Given the description of an element on the screen output the (x, y) to click on. 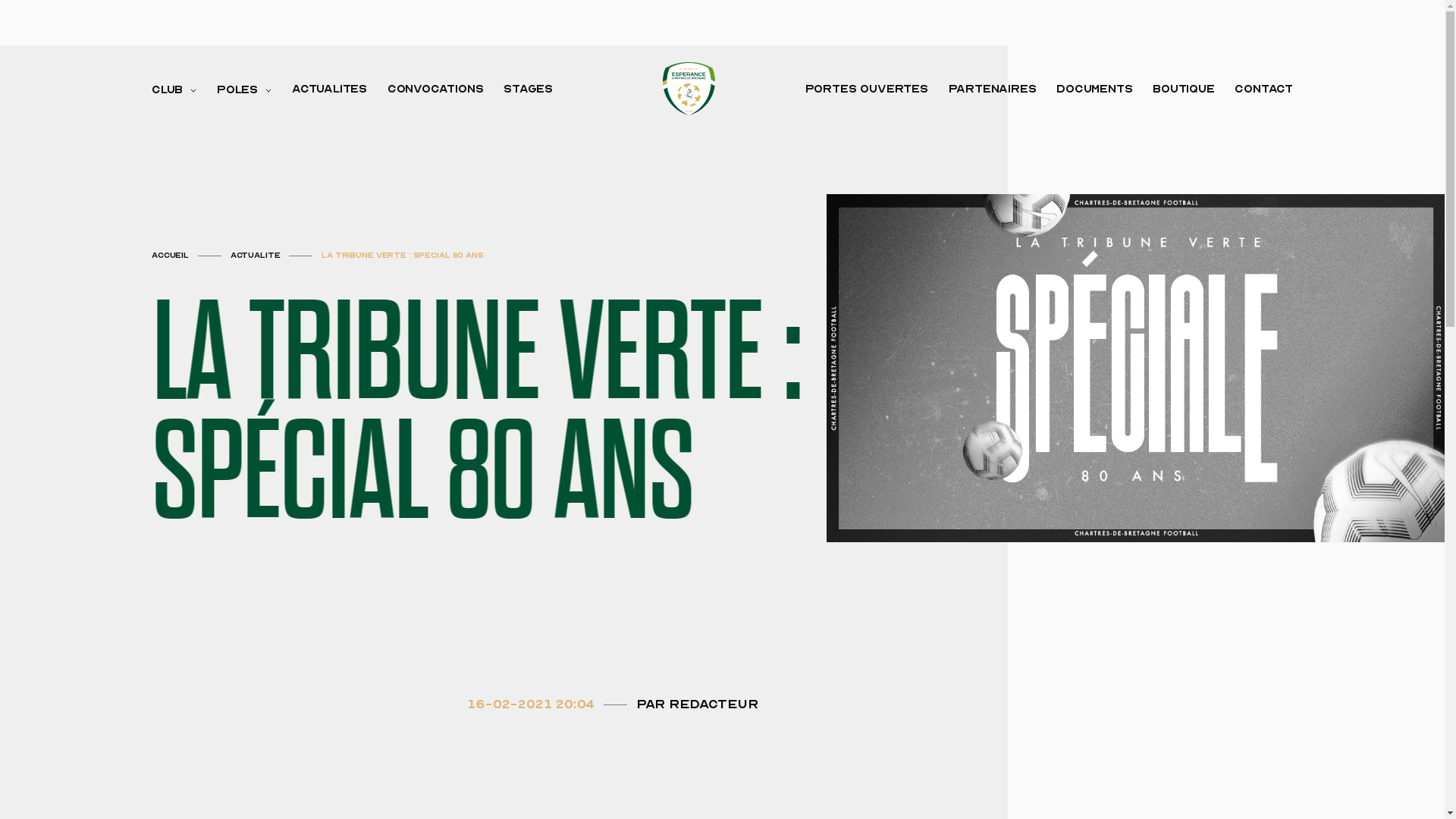
Poles Element type: text (243, 89)
Mobile Menu Element type: text (18, 55)
Boutique Element type: text (1183, 88)
Club Element type: text (173, 89)
contact Element type: text (1263, 88)
Actualites Element type: text (329, 88)
ACTUALITE Element type: text (255, 255)
Convocations Element type: text (435, 88)
documents Element type: text (1094, 88)
Stages Element type: text (527, 88)
partenaires Element type: text (992, 88)
Portes Ouvertes Element type: text (866, 88)
